Given the description of an element on the screen output the (x, y) to click on. 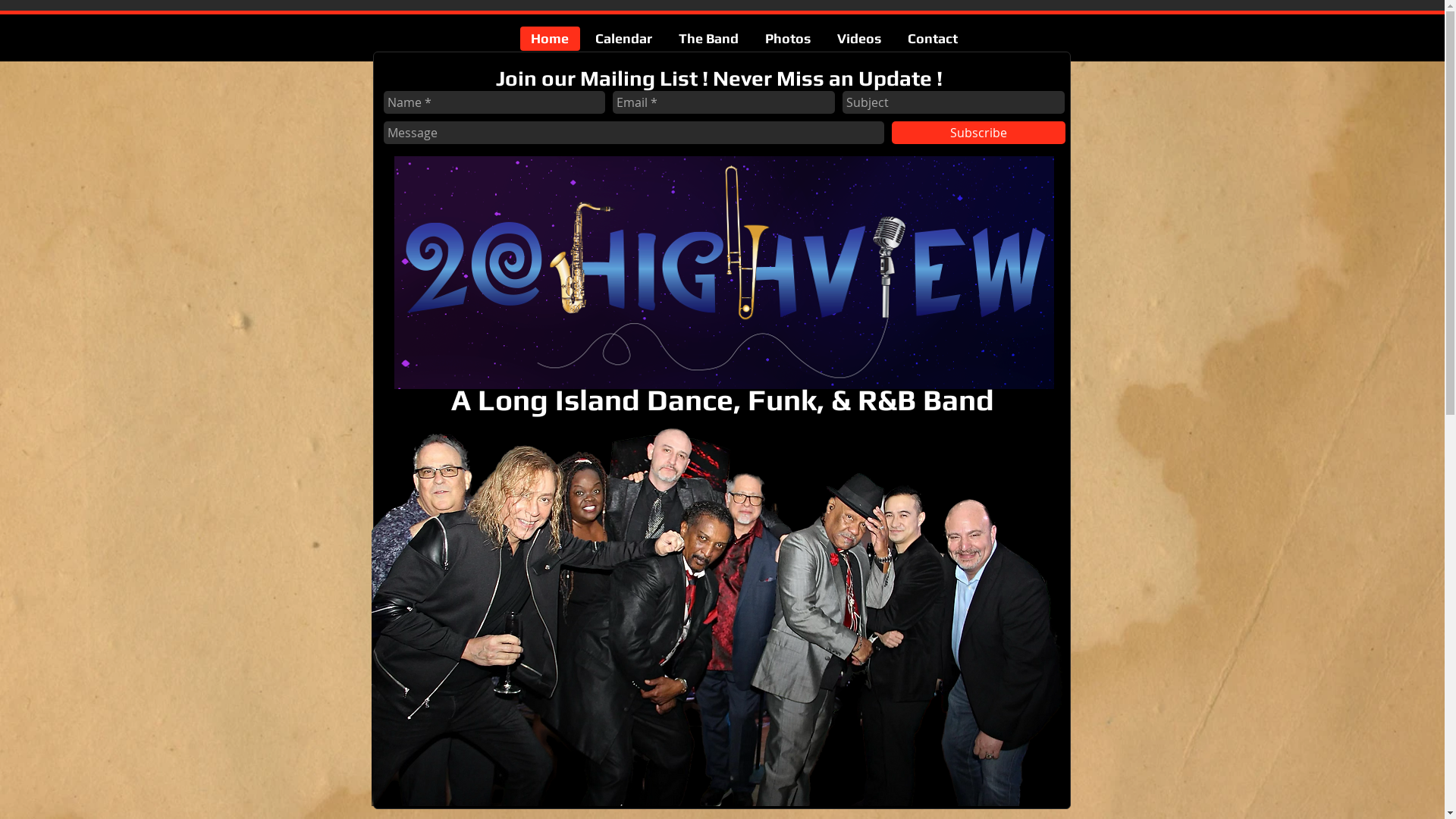
Calendar Element type: text (622, 38)
The Band Element type: text (708, 38)
Photos Element type: text (787, 38)
Contact Element type: text (931, 38)
Subscribe Element type: text (978, 132)
Home Element type: text (550, 38)
Videos Element type: text (859, 38)
